Given the description of an element on the screen output the (x, y) to click on. 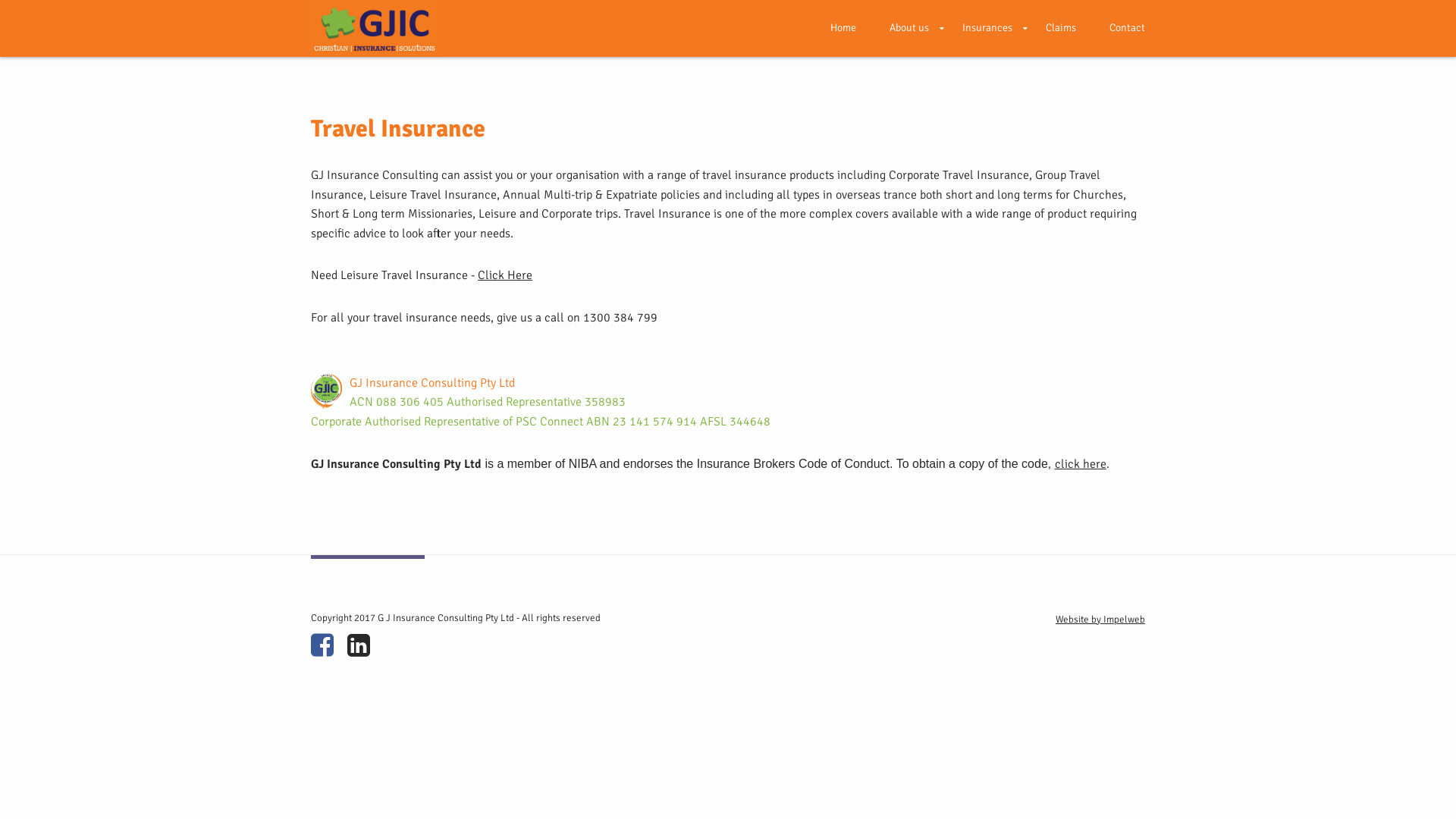
Click Here Element type: text (504, 274)
Claims Element type: text (1060, 27)
Home Element type: text (843, 27)
click here Element type: text (1080, 463)
About us Element type: text (909, 27)
Website by Impelweb Element type: text (1100, 619)
Contact Element type: text (1119, 27)
Insurances Element type: text (987, 27)
Travel Insurance Element type: text (397, 128)
